Given the description of an element on the screen output the (x, y) to click on. 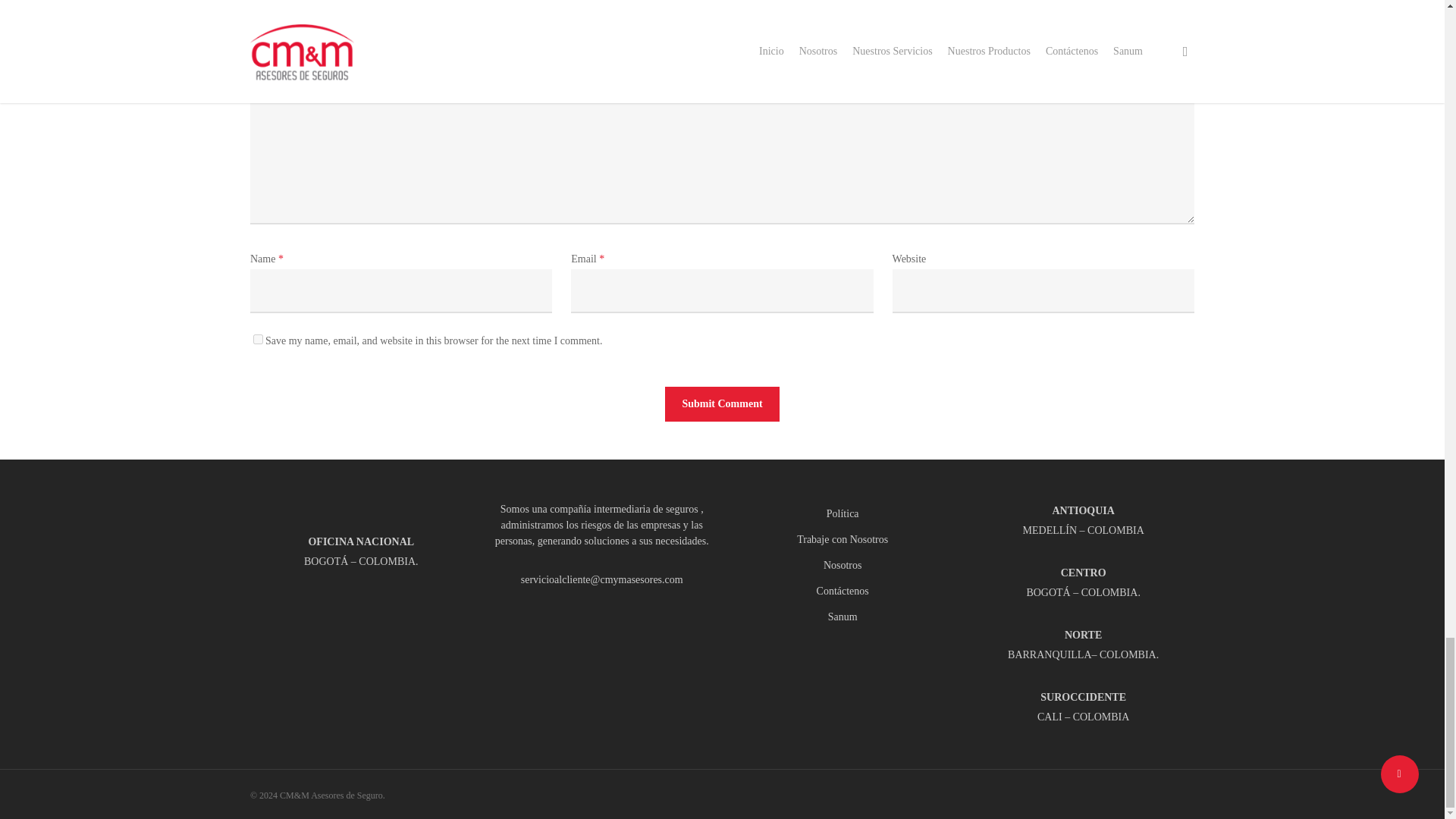
Submit Comment (721, 403)
Sanum (842, 617)
Submit Comment (721, 403)
yes (258, 338)
Nosotros (842, 565)
Trabaje con Nosotros (842, 539)
